Given the description of an element on the screen output the (x, y) to click on. 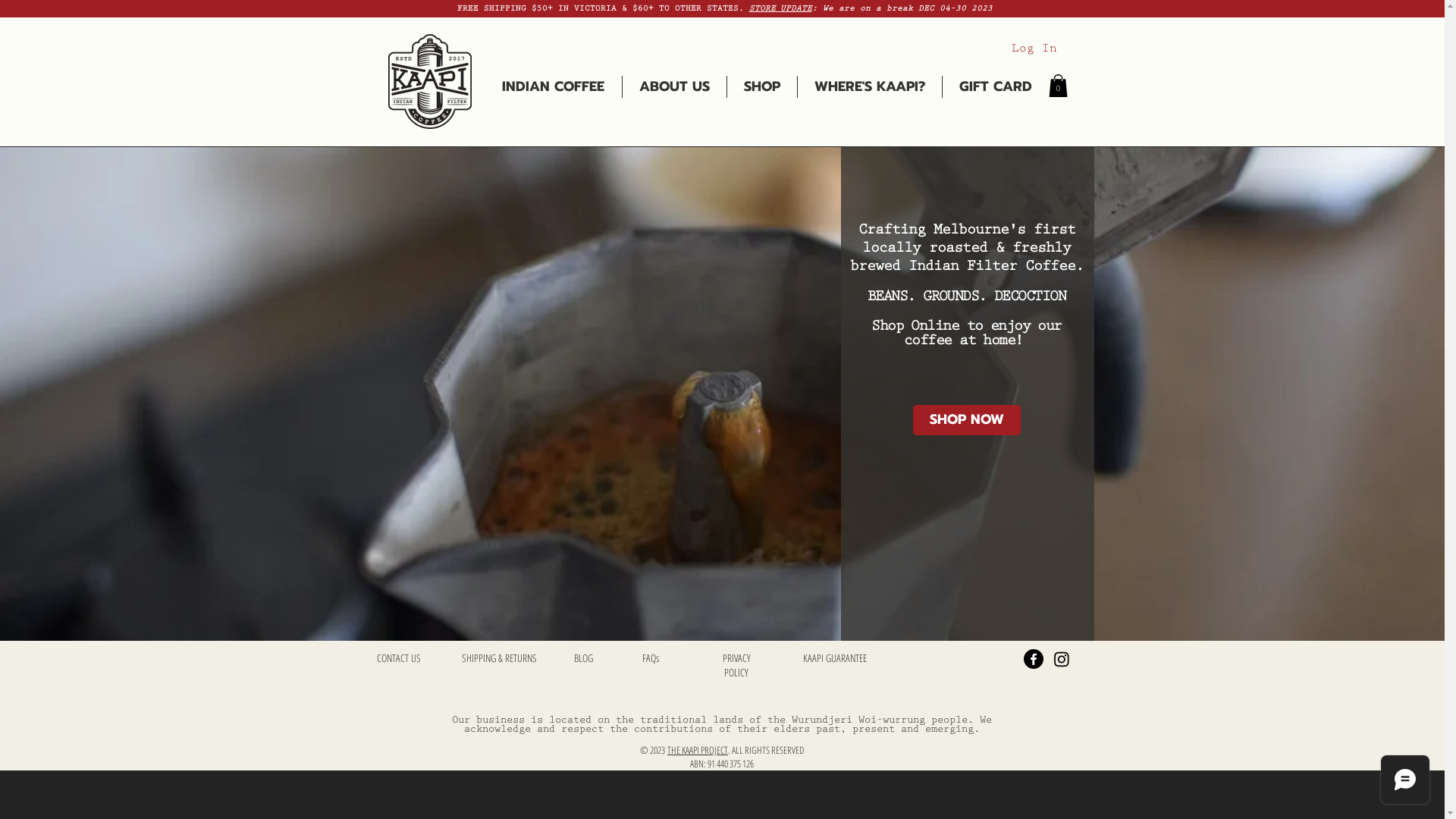
CONTACT US Element type: text (398, 657)
FAQs Element type: text (649, 657)
PRIVACY POLICY Element type: text (735, 664)
BLOG Element type: text (582, 657)
SHOP Element type: text (761, 86)
KAAPI GUARANTEE Element type: text (834, 657)
GIFT CARD Element type: text (994, 86)
WHERE'S KAAPI? Element type: text (869, 86)
Log In Element type: text (1034, 49)
0 Element type: text (1057, 85)
ABOUT US Element type: text (673, 86)
SHIPPING & RETURNS Element type: text (498, 657)
THE KAAPI PROJECT Element type: text (697, 749)
SHOP NOW Element type: text (966, 419)
